Given the description of an element on the screen output the (x, y) to click on. 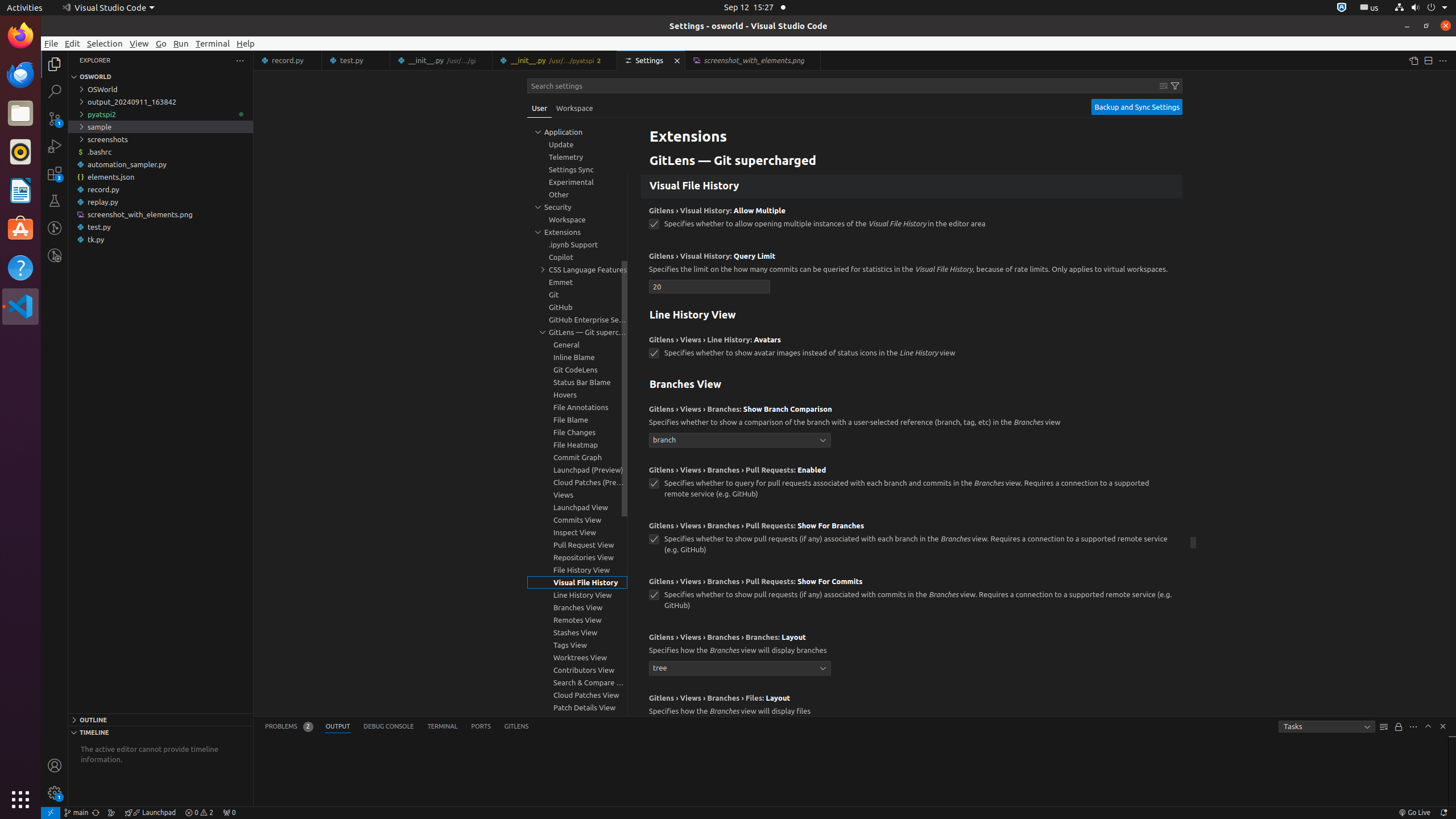
gitlens.advanced.fileHistoryShowMergeCommits Element type: check-box (653, 154)
Terminal Element type: push-button (212, 43)
Keyboard, group Element type: tree-item (577, 131)
GitHub, group Element type: tree-item (577, 306)
pyatspi2 Element type: tree-item (160, 114)
